Given the description of an element on the screen output the (x, y) to click on. 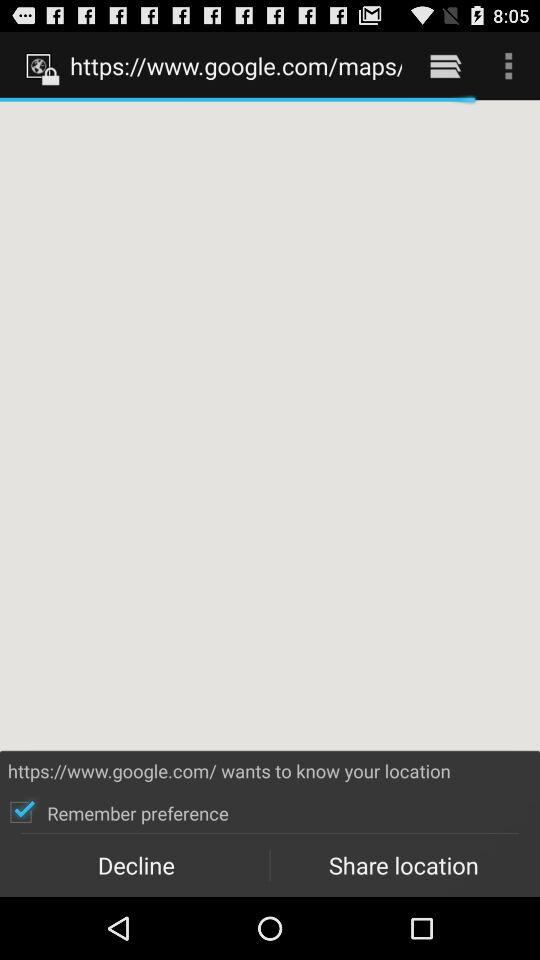
click on the button which is next to the decline (403, 865)
